Given the description of an element on the screen output the (x, y) to click on. 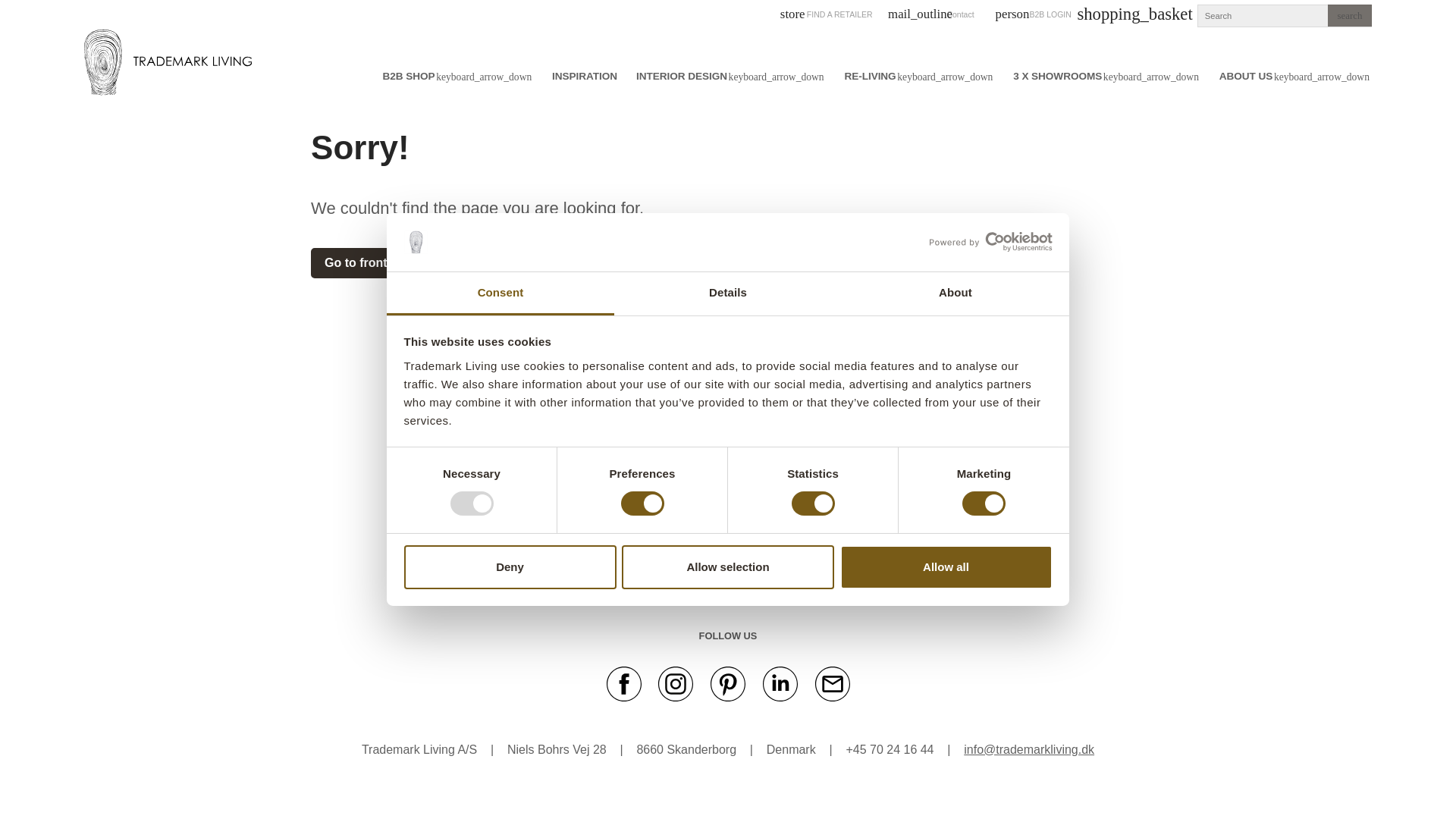
Instagram (675, 682)
Consent (500, 293)
Facebook (624, 682)
Instagram (727, 682)
About (954, 293)
LinkedIn (779, 682)
Details (727, 293)
